Given the description of an element on the screen output the (x, y) to click on. 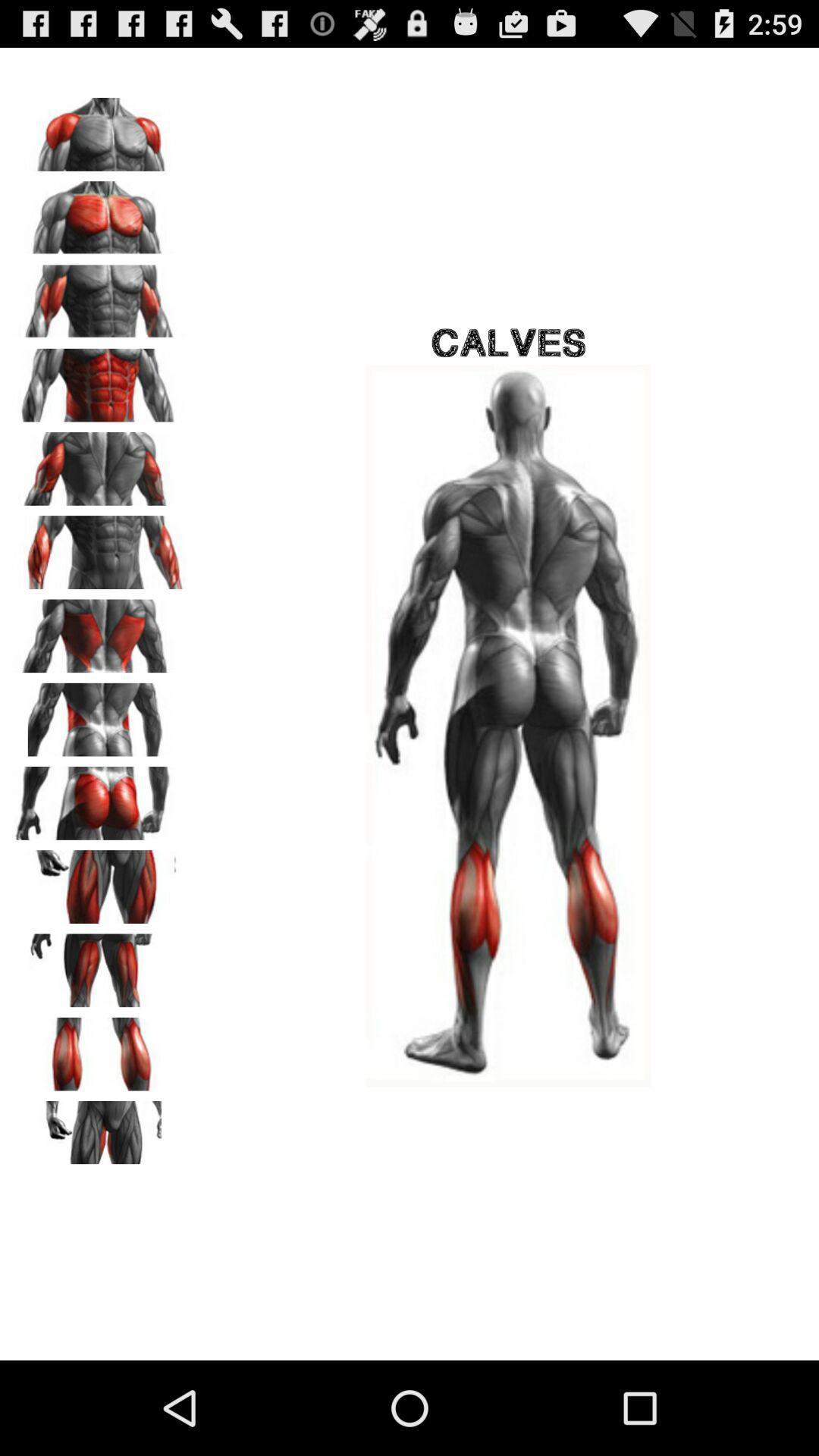
select hip workouts (99, 714)
